Given the description of an element on the screen output the (x, y) to click on. 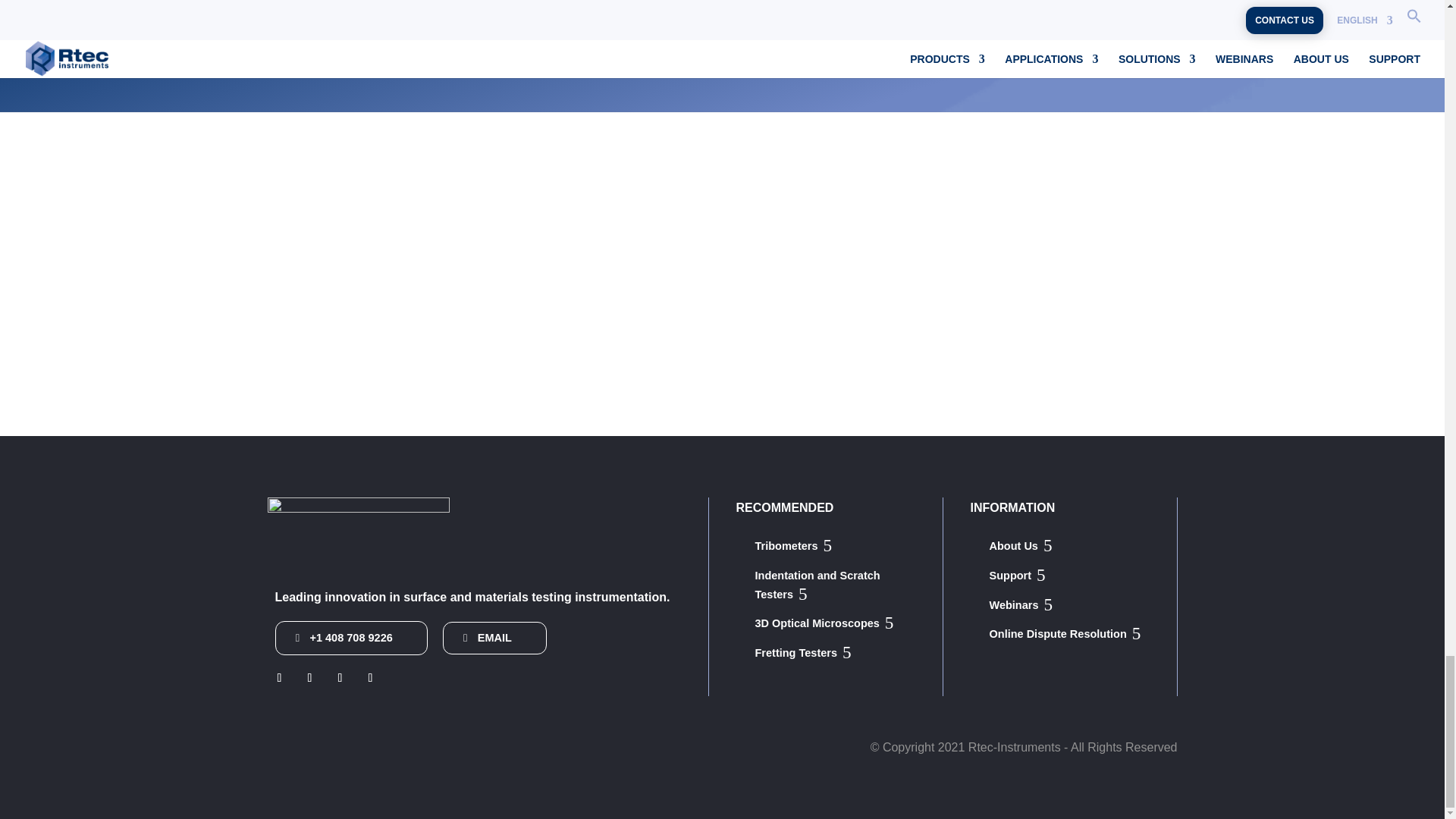
Follow on Instagram (309, 677)
Rtec-Instruments-Logo-White (357, 535)
Follow on Youtube (369, 677)
Follow on LinkedIn (278, 677)
Follow on Vimeo (339, 677)
